Given the description of an element on the screen output the (x, y) to click on. 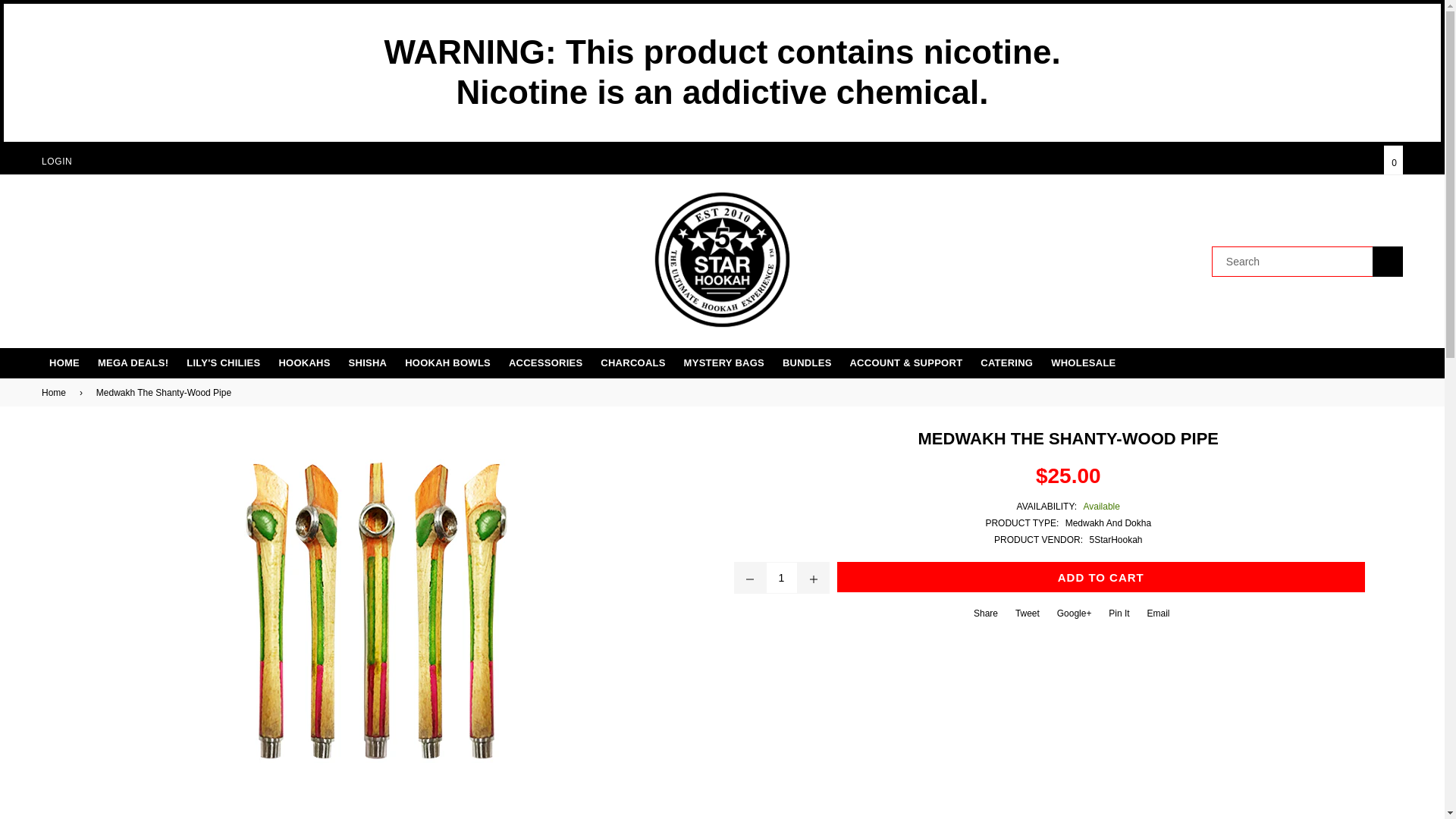
Quantity (781, 577)
Back to the home page (56, 392)
HOOKAHS (303, 363)
1 (781, 577)
LOGIN (56, 161)
Share by Email (1156, 617)
HOME (64, 363)
SUBMIT (1388, 261)
Pin on Pinterest (1117, 617)
Share on Facebook (983, 617)
